Given the description of an element on the screen output the (x, y) to click on. 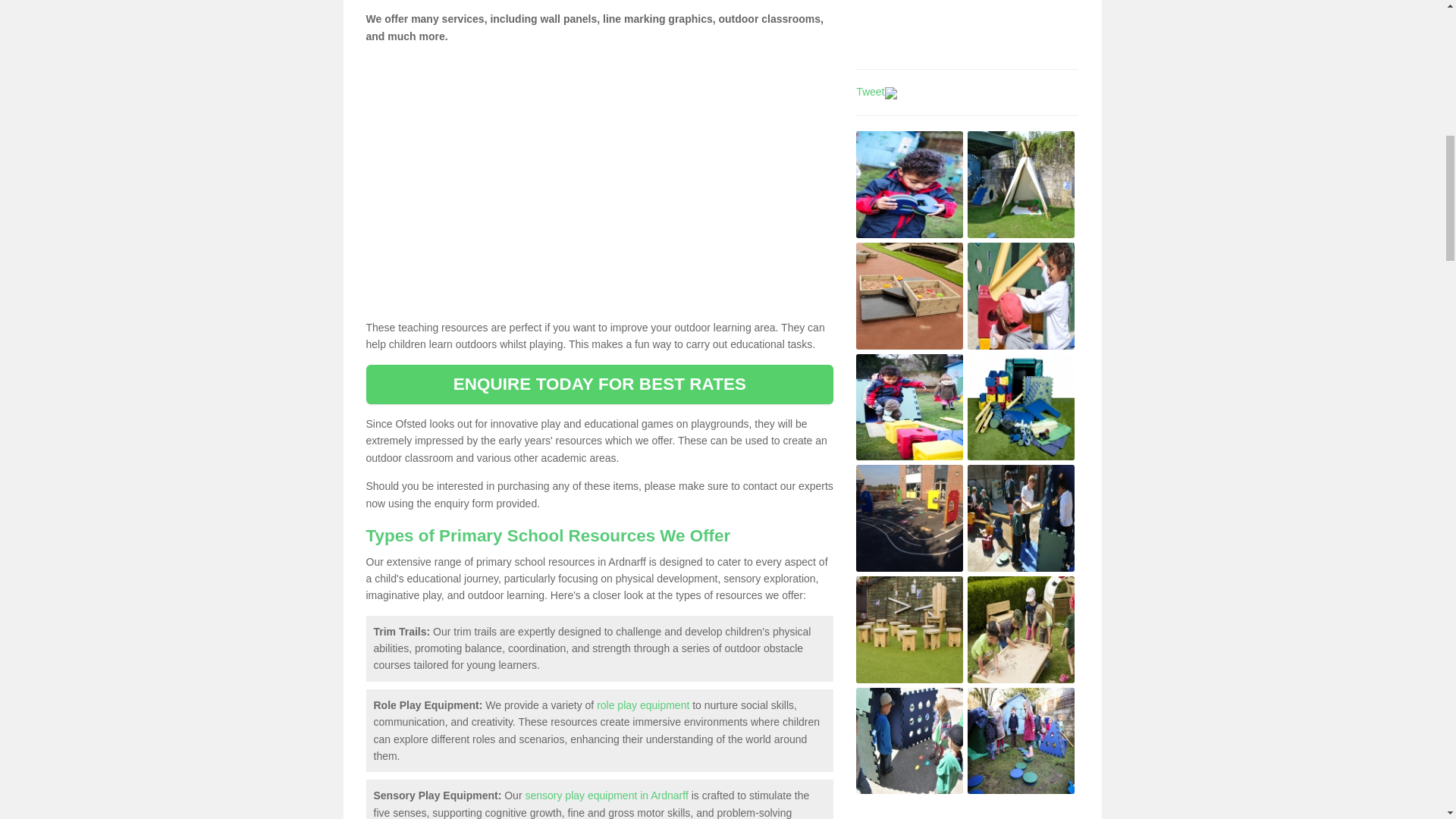
EYFS Resources in Ardnarff 4 (1021, 295)
EYFS Resources in Ardnarff 12 (1021, 740)
EYFS Resources in Ardnarff 6 (1021, 407)
EYFS Resources in Ardnarff 7 (909, 518)
EYFS Resources in Ardnarff 10 (1021, 629)
EYFS Resources in Ardnarff 8 (1021, 518)
EYFS Resources in Ardnarff 3 (909, 295)
EYFS Resources in Ardnarff 2 (1021, 184)
EYFS Resources in Ardnarff 9 (909, 629)
EYFS Resources in Ardnarff 1 (909, 184)
EYFS Resources in Ardnarff 5 (909, 407)
EYFS Resources in Ardnarff 11 (909, 740)
